Given the description of an element on the screen output the (x, y) to click on. 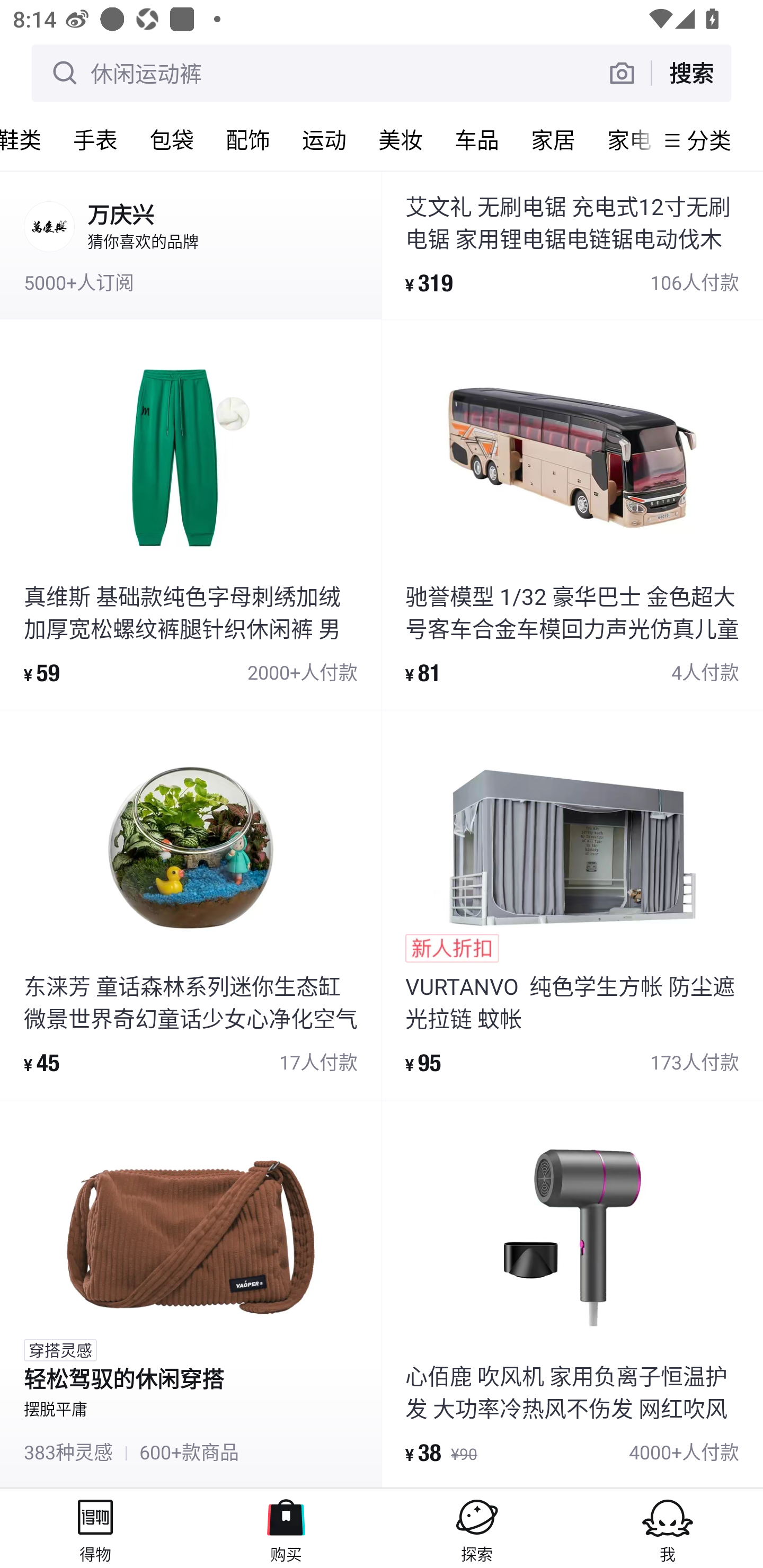
搜索 (690, 72)
鞋类 (28, 139)
手表 (95, 139)
包袋 (171, 139)
配饰 (247, 139)
运动 (324, 139)
美妆 (400, 139)
车品 (476, 139)
家居 (553, 139)
家电 (622, 139)
分类 (708, 139)
万庆兴 猜你喜欢的品牌 5000+人订阅 (190, 244)
穿搭灵感 轻松驾驭的休闲穿搭 摆脱平庸 383种灵感 # 600+款商品 (190, 1293)
得物 (95, 1528)
购买 (285, 1528)
探索 (476, 1528)
我 (667, 1528)
